Given the description of an element on the screen output the (x, y) to click on. 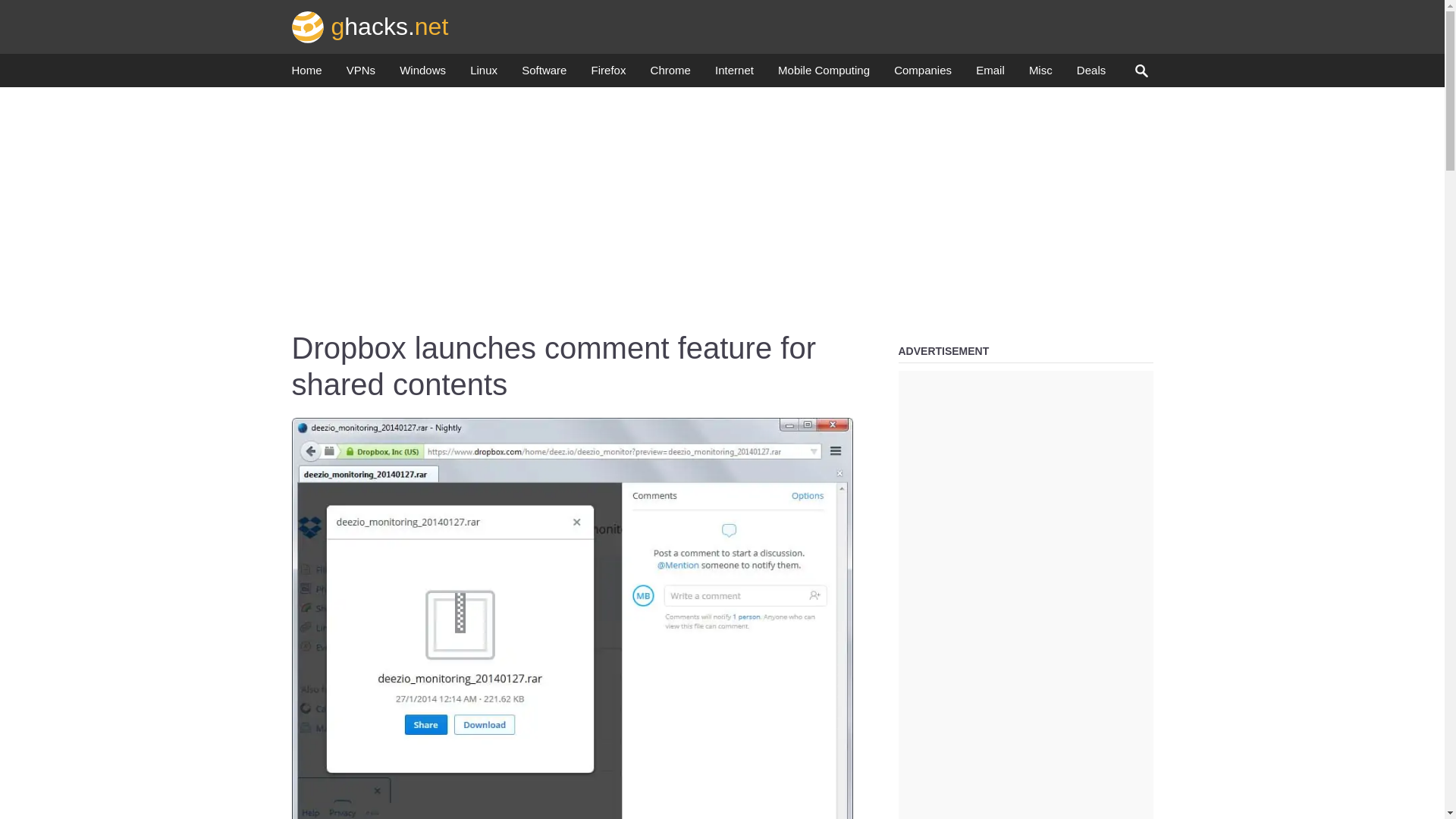
Companies (922, 73)
Home (306, 73)
Misc (1040, 73)
VPNs (360, 73)
Linux (483, 73)
Chrome (670, 73)
ghacks.net (369, 26)
Deals (1091, 73)
Software (543, 73)
Windows (421, 73)
